Given the description of an element on the screen output the (x, y) to click on. 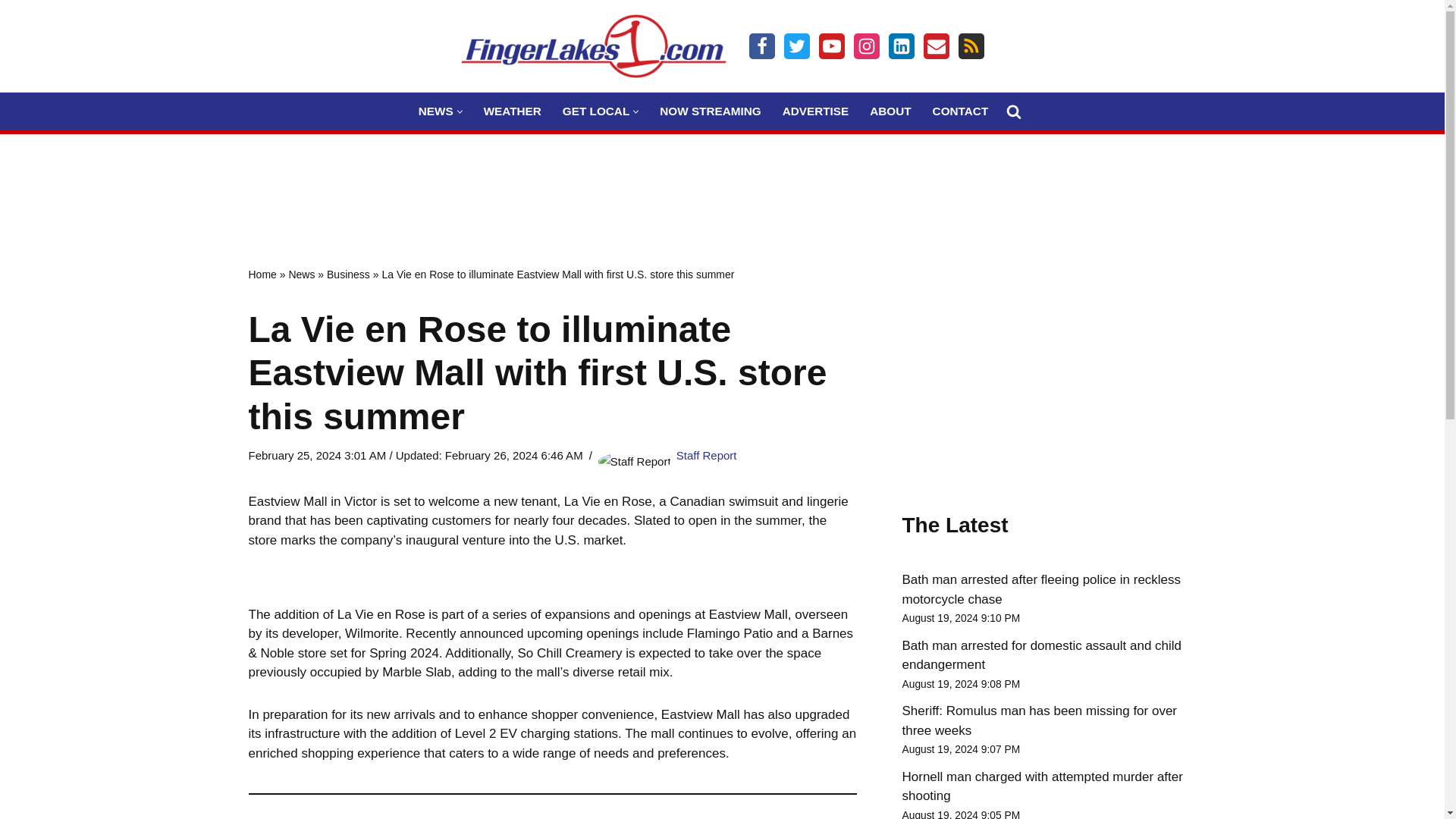
Facebook (761, 45)
ABOUT (890, 111)
Twitter (796, 45)
GET LOCAL (595, 111)
NOW STREAMING (709, 111)
Youtube (831, 45)
Skip to content (11, 31)
CONTACT (960, 111)
WEATHER (512, 111)
Feed (971, 45)
